Given the description of an element on the screen output the (x, y) to click on. 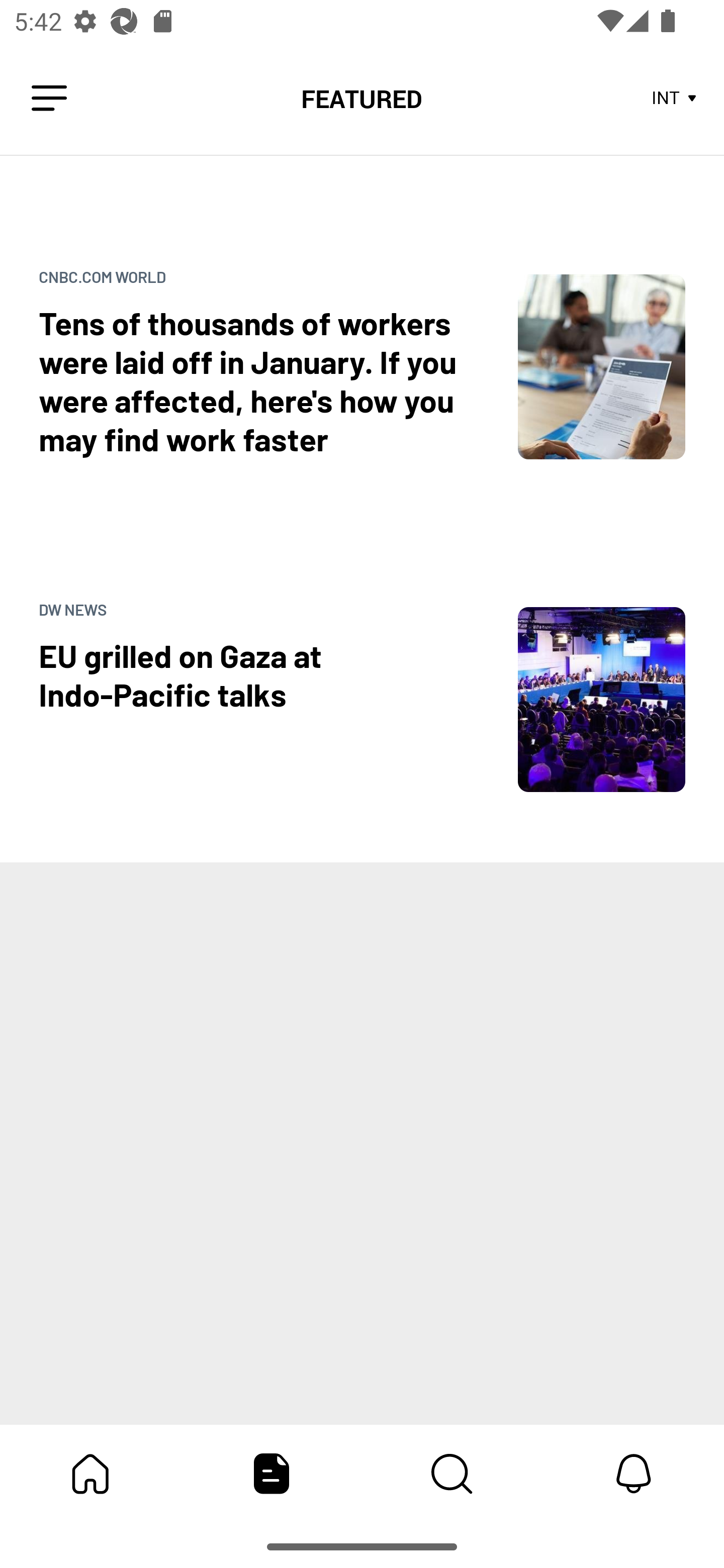
INT Store Area (674, 98)
Leading Icon (49, 98)
My Bundle (90, 1473)
Content Store (452, 1473)
Notifications (633, 1473)
